Given the description of an element on the screen output the (x, y) to click on. 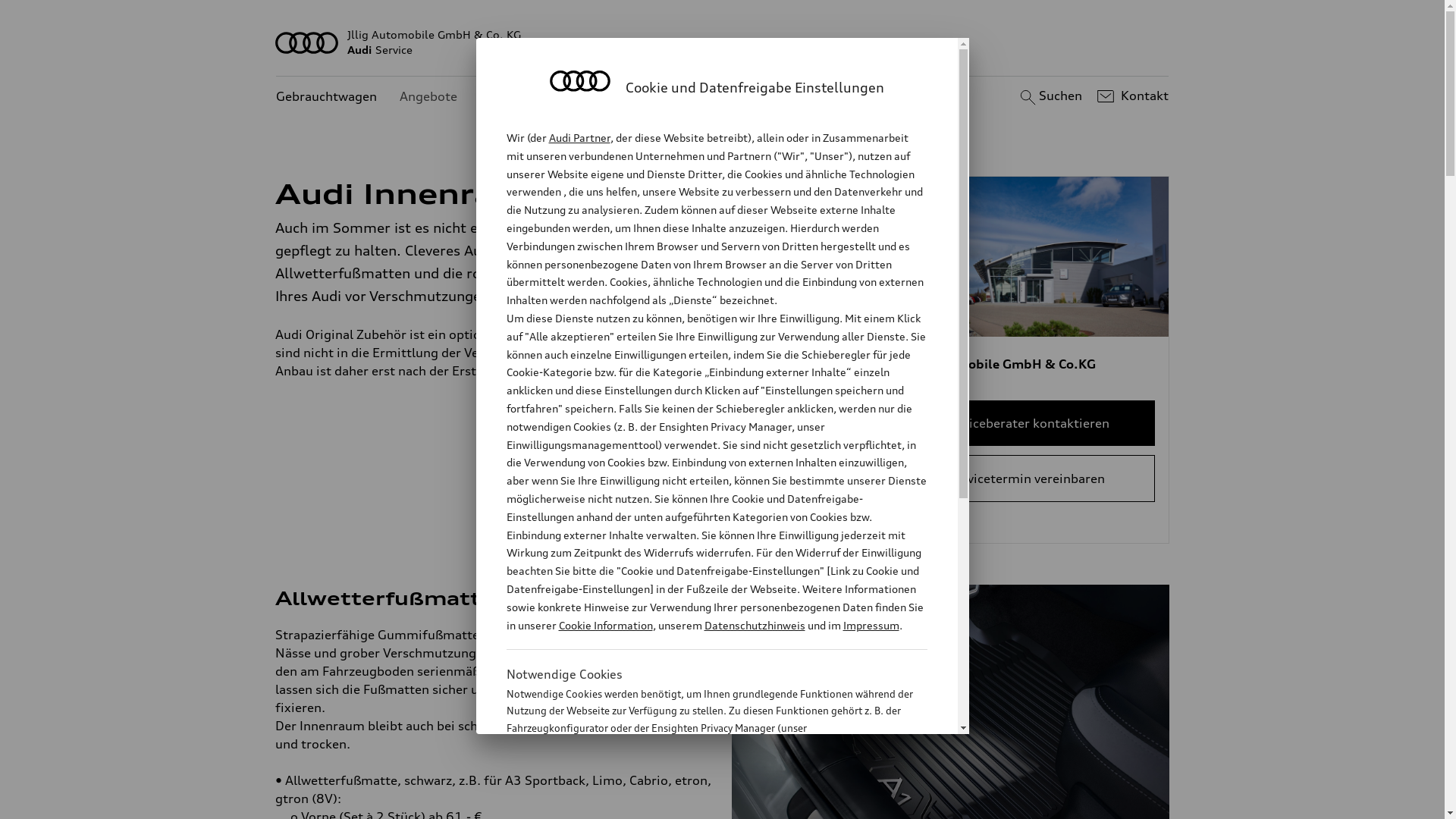
Suchen Element type: text (1049, 96)
Servicetermin vereinbaren Element type: text (1025, 478)
Audi Partner Element type: text (579, 137)
Cookie Information Element type: text (700, 802)
Jllig Automobile GmbH & Co. KG
AudiService Element type: text (722, 42)
Impressum Element type: text (871, 624)
Serviceberater kontaktieren Element type: text (1025, 422)
Gebrauchtwagen Element type: text (326, 96)
Kontakt Element type: text (1130, 96)
Angebote Element type: text (428, 96)
Datenschutzhinweis Element type: text (753, 624)
Cookie Information Element type: text (605, 624)
Kundenservice Element type: text (523, 96)
